Given the description of an element on the screen output the (x, y) to click on. 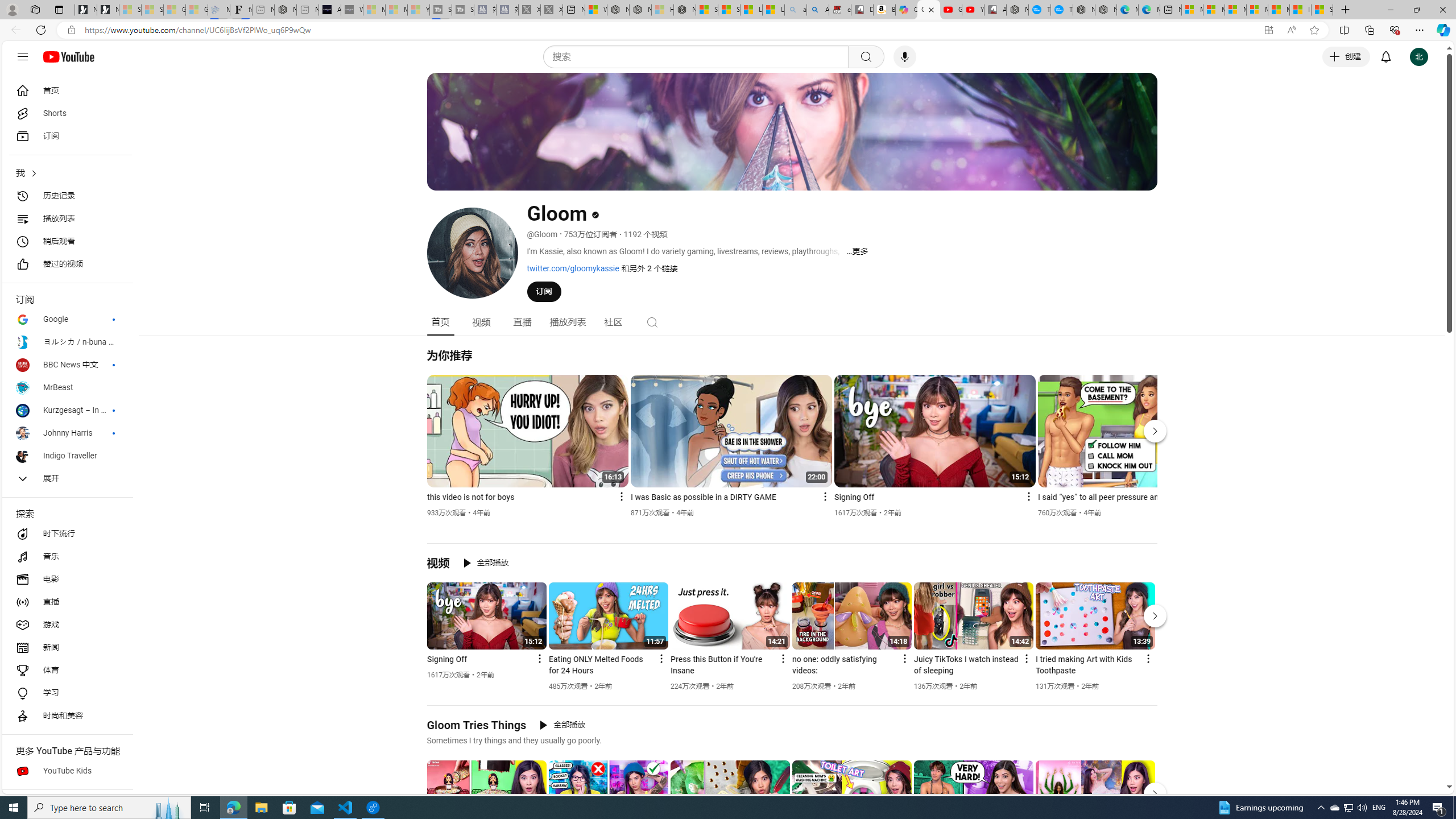
Gloom Tries Things (476, 725)
Nordace - Nordace Siena Is Not An Ordinary Backpack (684, 9)
